Given the description of an element on the screen output the (x, y) to click on. 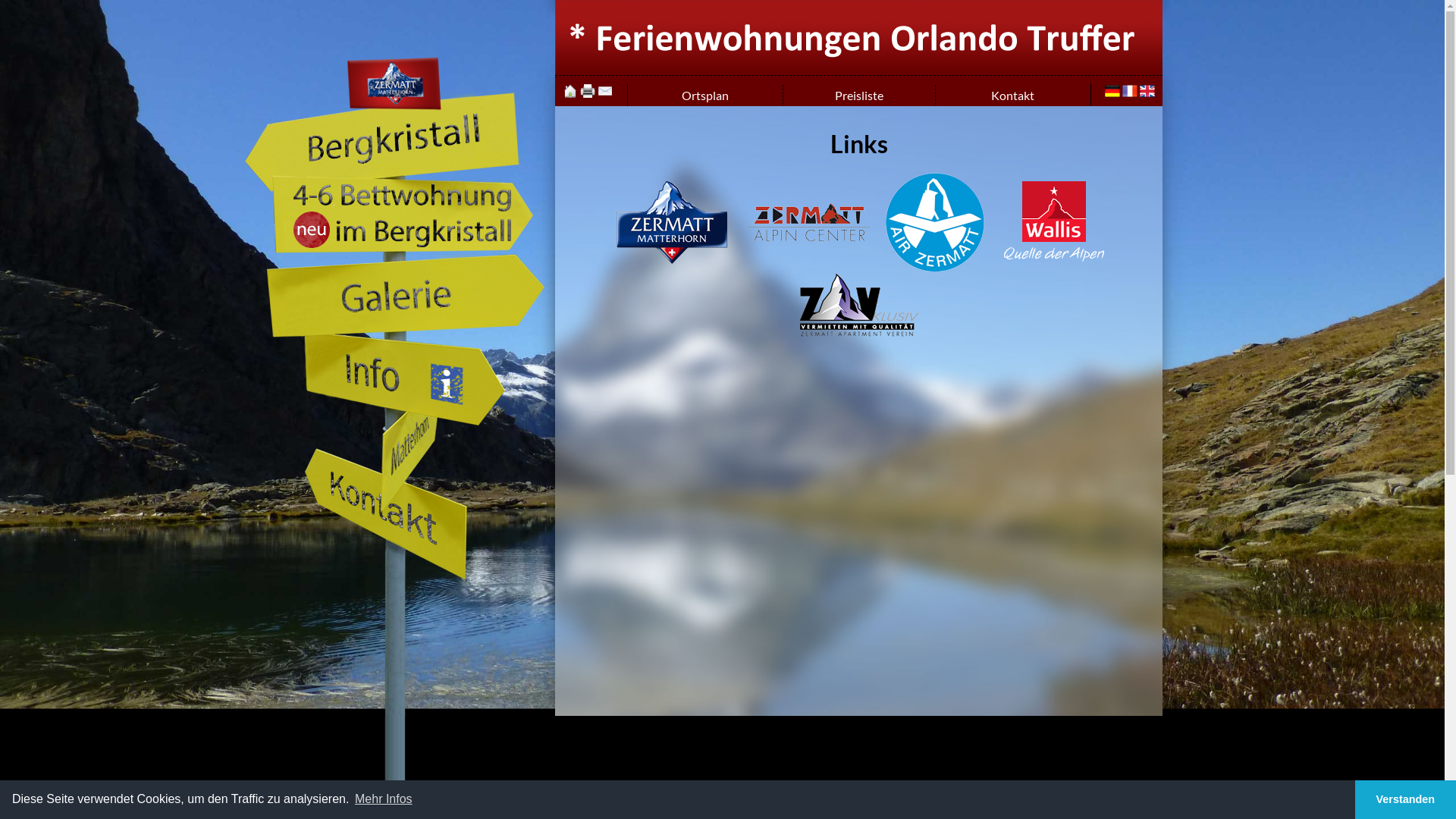
Ortsplan Element type: text (704, 94)
Deutsch Element type: hover (1112, 93)
Galerie Element type: hover (404, 325)
Alpincenter Zermatt Element type: hover (808, 222)
Zermatt Element type: hover (671, 222)
Zermatt Apartment Verein Element type: hover (858, 304)
Air Zermatt Element type: hover (934, 221)
English Element type: hover (1146, 93)
Wallis Element type: hover (1053, 221)
Zermatt Element type: hover (394, 105)
Kontakt Element type: hover (363, 545)
Kontakt Element type: hover (604, 93)
Preisliste Element type: text (858, 94)
Mehr Infos Element type: text (383, 798)
Zur Hauptseite Element type: hover (858, 69)
Zur Hauptseite Element type: hover (569, 90)
Kontakt Element type: text (1012, 94)
Drucken Element type: hover (587, 93)
4-6 Bettwohnung Element type: hover (404, 245)
